Given the description of an element on the screen output the (x, y) to click on. 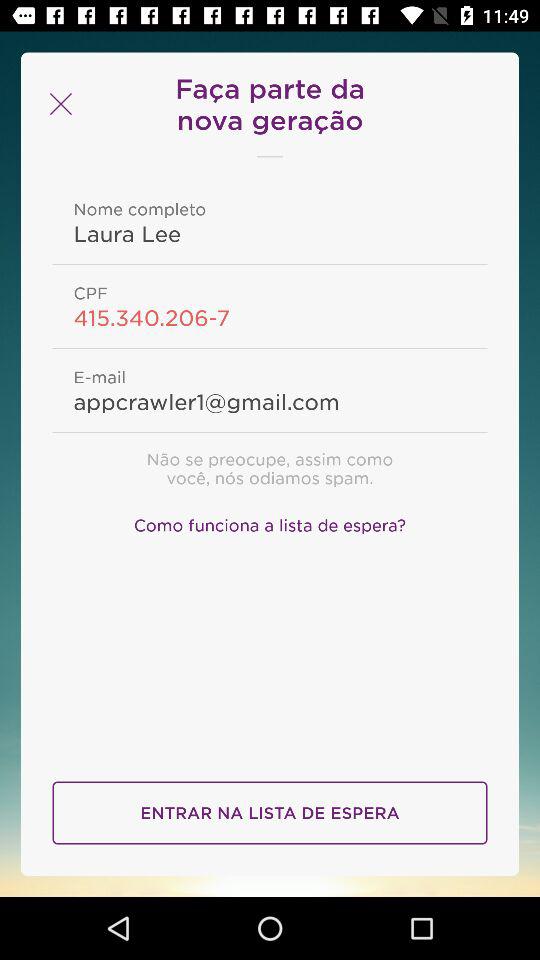
choose como funciona a item (270, 522)
